Given the description of an element on the screen output the (x, y) to click on. 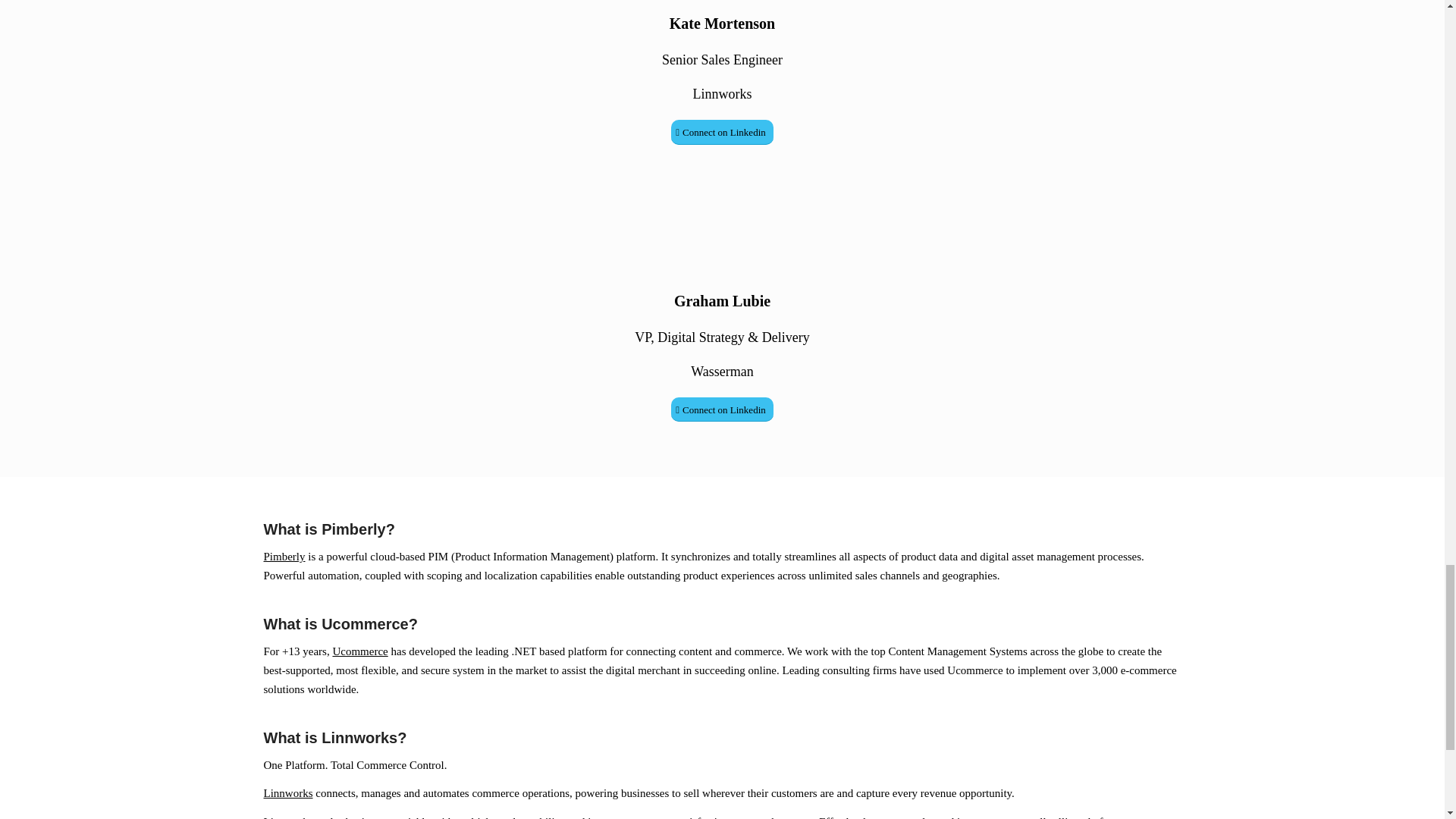
Graham-Lubie-Headshot (721, 219)
